Given the description of an element on the screen output the (x, y) to click on. 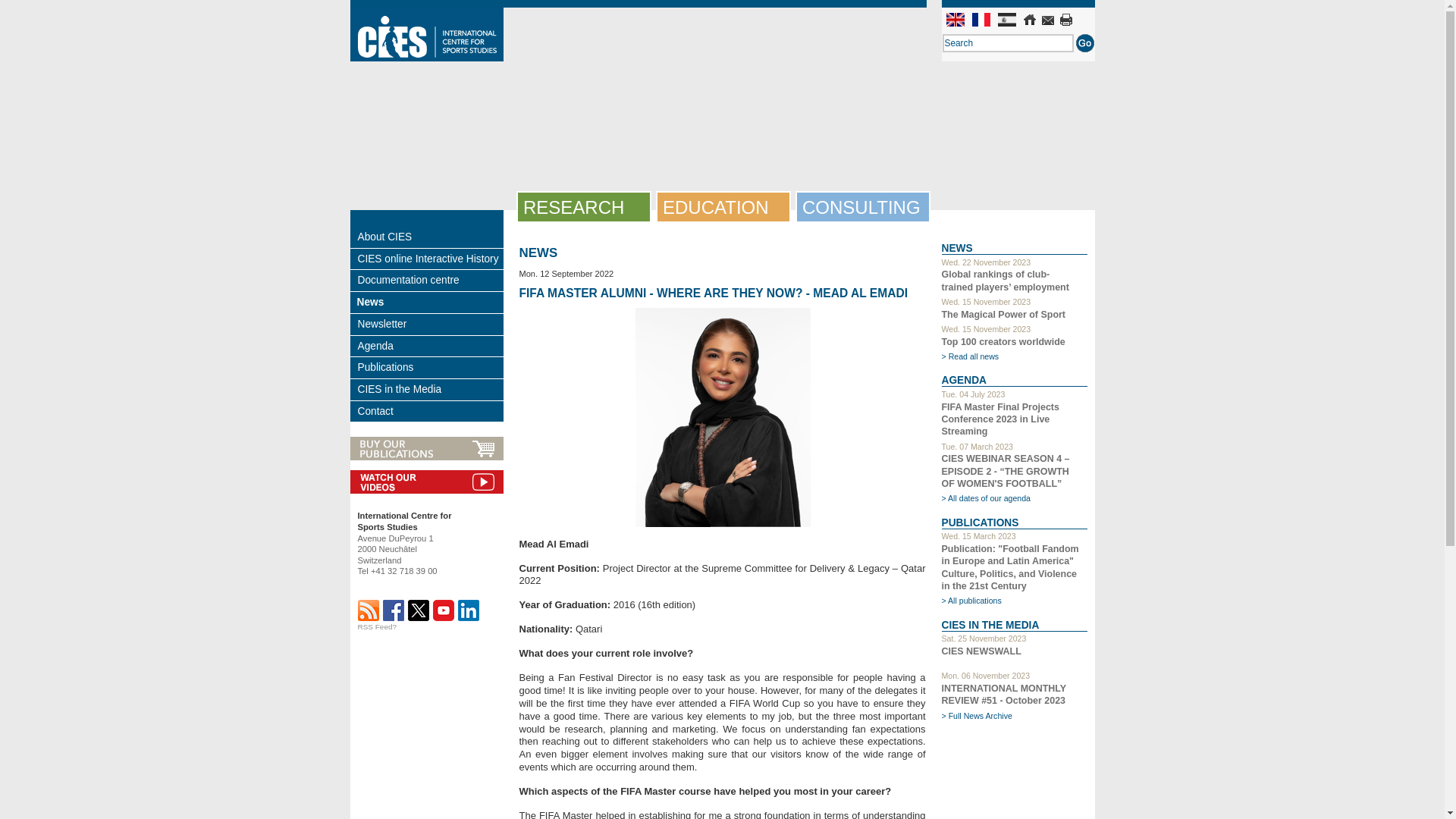
CIES NEWSWALL Element type: text (1014, 657)
French Element type: hover (981, 19)
English Element type: hover (955, 19)
> All publications Element type: text (971, 600)
Publications Element type: text (430, 367)
  Element type: text (1028, 19)
Documentation centre Element type: text (430, 280)
Contact Element type: hover (1047, 19)
  Element type: text (368, 610)
CONSULTING Element type: text (865, 207)
  Element type: text (418, 610)
Newsletter Element type: text (430, 324)
INTERNATIONAL MONTHLY REVIEW #51 - October 2023 Element type: text (1003, 694)
RESEARCH Element type: text (586, 207)
Print Element type: hover (1065, 19)
CIES online Interactive History Element type: text (430, 259)
Top 100 creators worldwide Element type: text (1003, 341)
Linked In Element type: hover (468, 610)
Facebook Element type: hover (392, 610)
News Element type: text (429, 302)
The Magical Power of Sport Element type: text (1003, 314)
About CIES Element type: text (430, 237)
Twitter Element type: hover (418, 610)
EDUCATION Element type: text (725, 207)
  Element type: text (1065, 19)
  Element type: text (1047, 19)
CIES in the Media Element type: text (430, 389)
Home Element type: hover (1028, 19)
> All dates of our agenda Element type: text (986, 497)
  Element type: text (468, 610)
  Element type: text (442, 610)
FIFA Master Final Projects Conference 2023 in Live Streaming Element type: text (1000, 418)
You Tube Element type: hover (442, 610)
  Element type: text (392, 610)
RSS Feed? Element type: text (377, 626)
> Read all news Element type: text (970, 355)
RSS Element type: hover (368, 610)
> Full News Archive Element type: text (976, 715)
Agenda Element type: text (430, 346)
Contact Element type: text (430, 411)
